Given the description of an element on the screen output the (x, y) to click on. 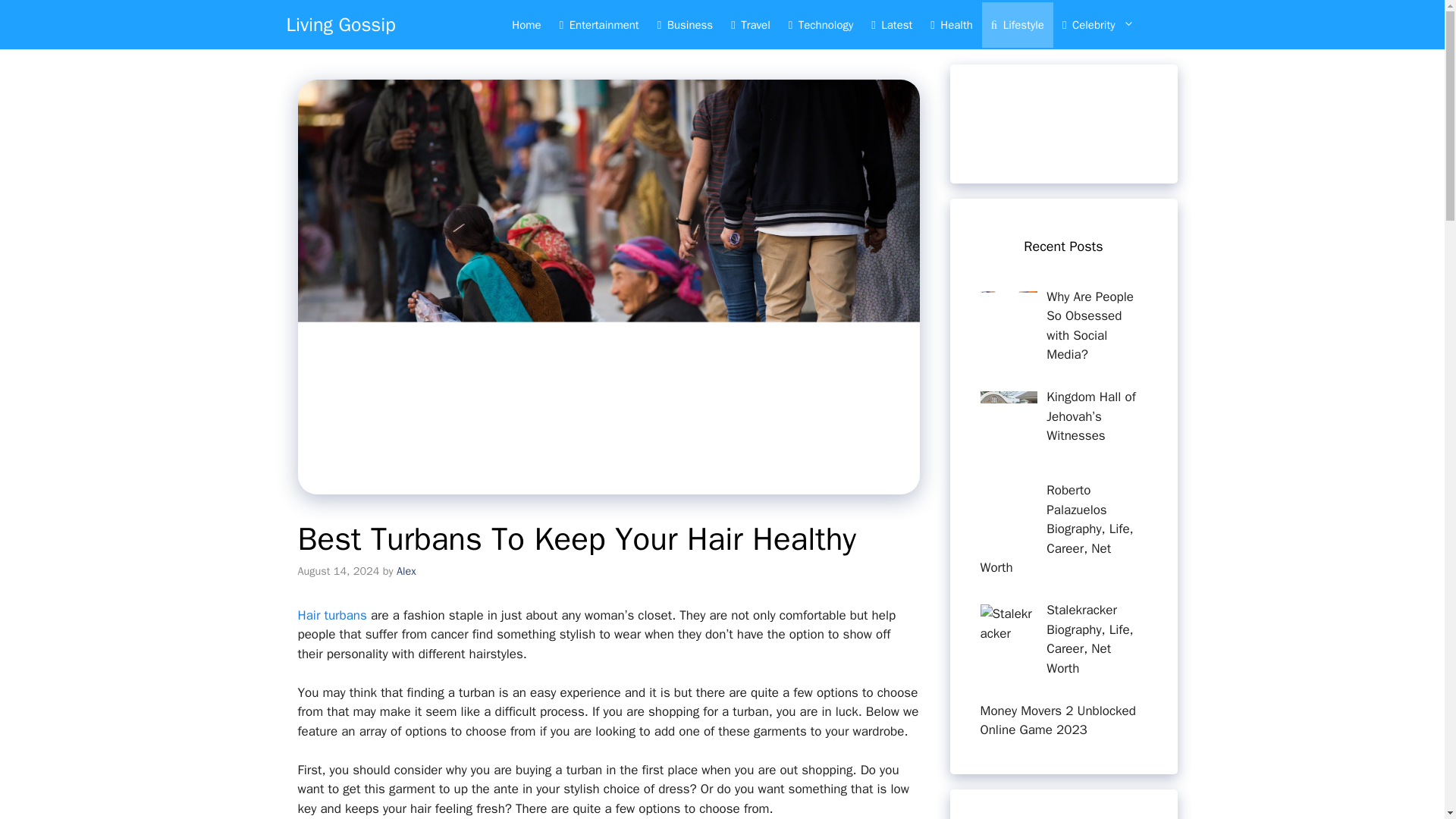
Home (526, 23)
Lifestyle (1016, 23)
Hair turbans (331, 615)
Business (684, 23)
Roberto Palazuelos Biography, Life, Career, Net Worth (1055, 528)
Technology (820, 23)
Health (951, 23)
Entertainment (598, 23)
Latest (891, 23)
Living Gossip (341, 24)
